Given the description of an element on the screen output the (x, y) to click on. 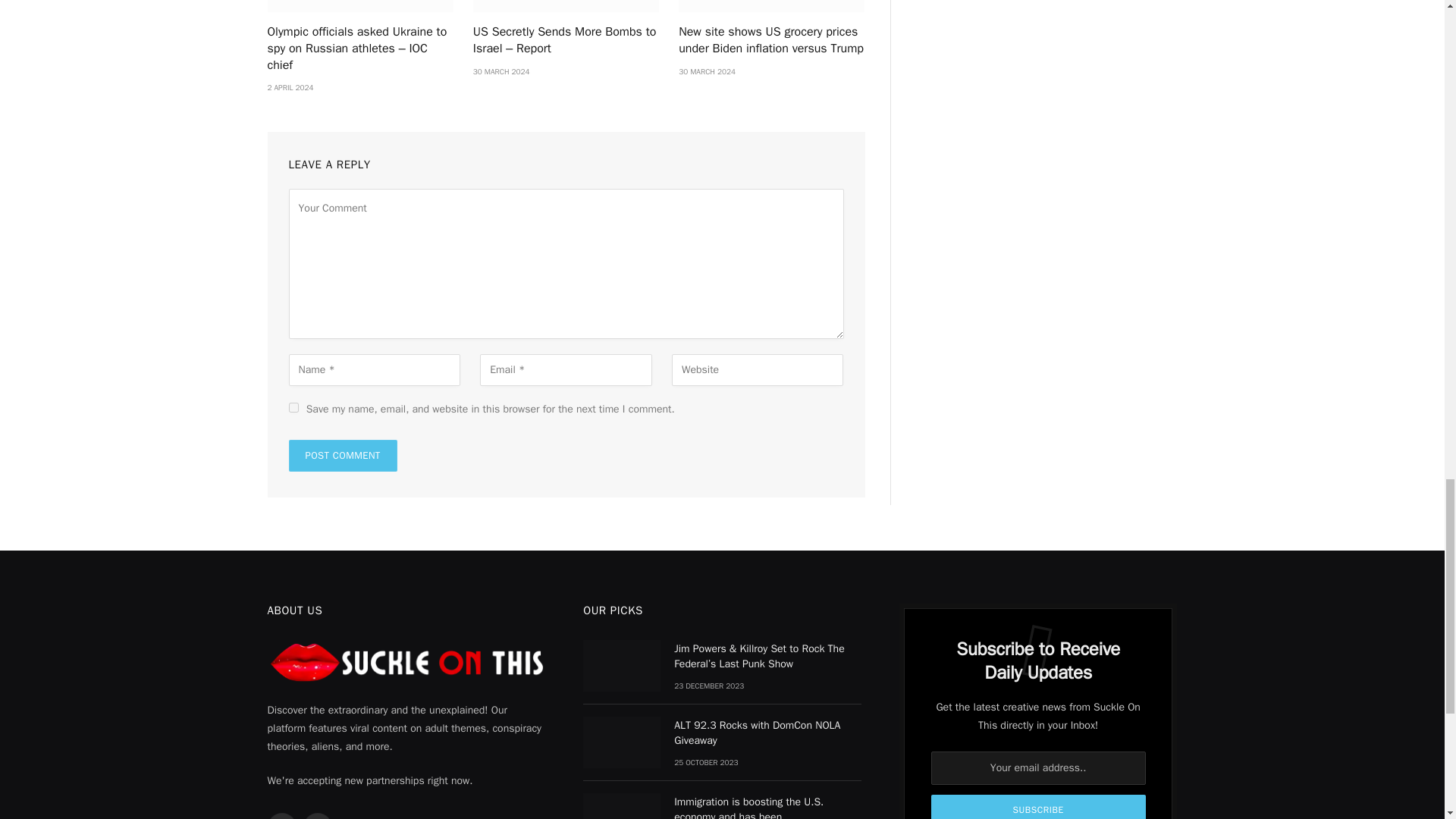
yes (293, 407)
Post Comment (342, 455)
Subscribe (1038, 806)
